Given the description of an element on the screen output the (x, y) to click on. 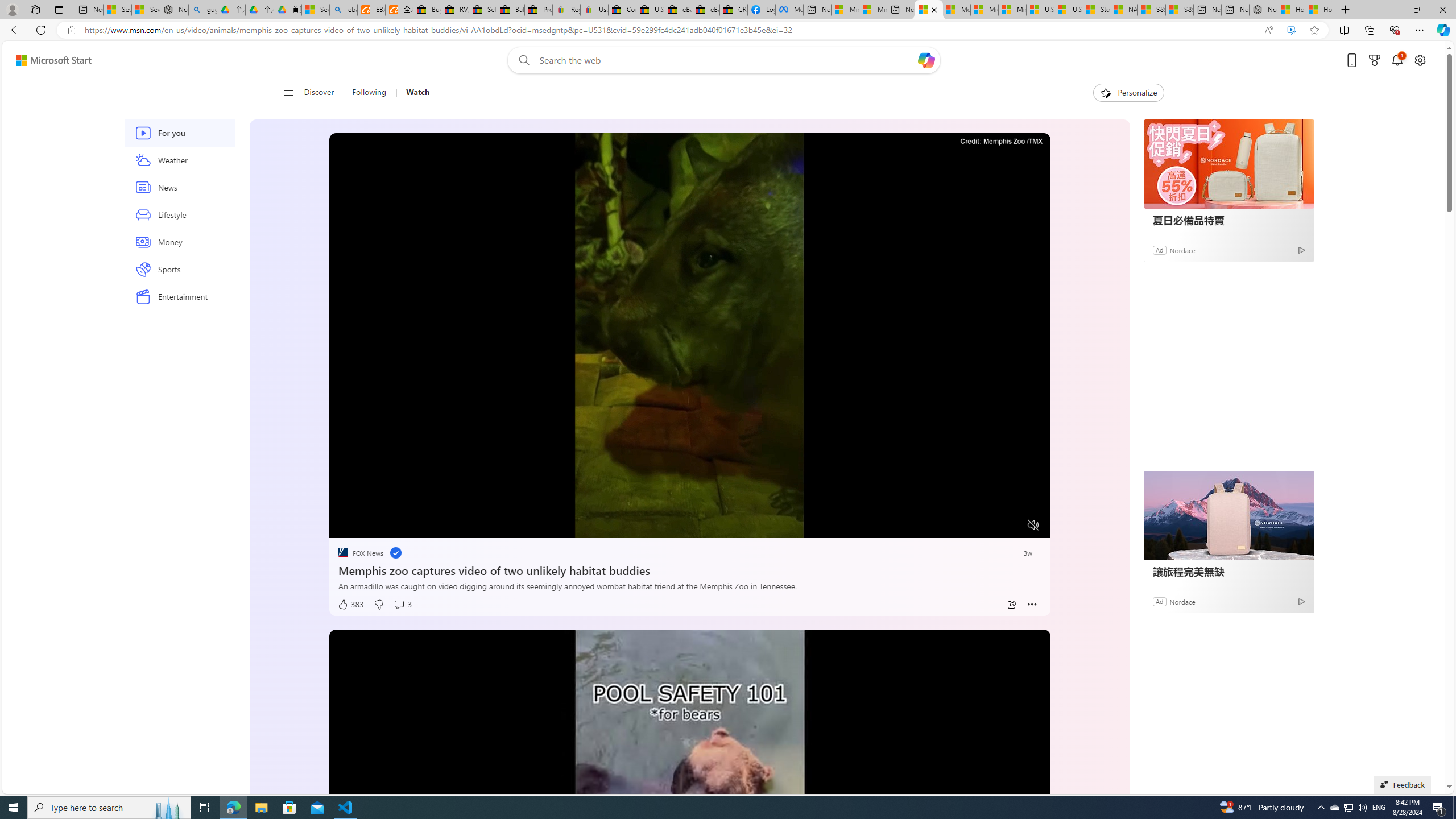
Log into Facebook (761, 9)
eBay Inc. Reports Third Quarter 2023 Results (706, 9)
U.S. State Privacy Disclosures - eBay Inc. (649, 9)
Register: Create a personal eBay account (566, 9)
